Given the description of an element on the screen output the (x, y) to click on. 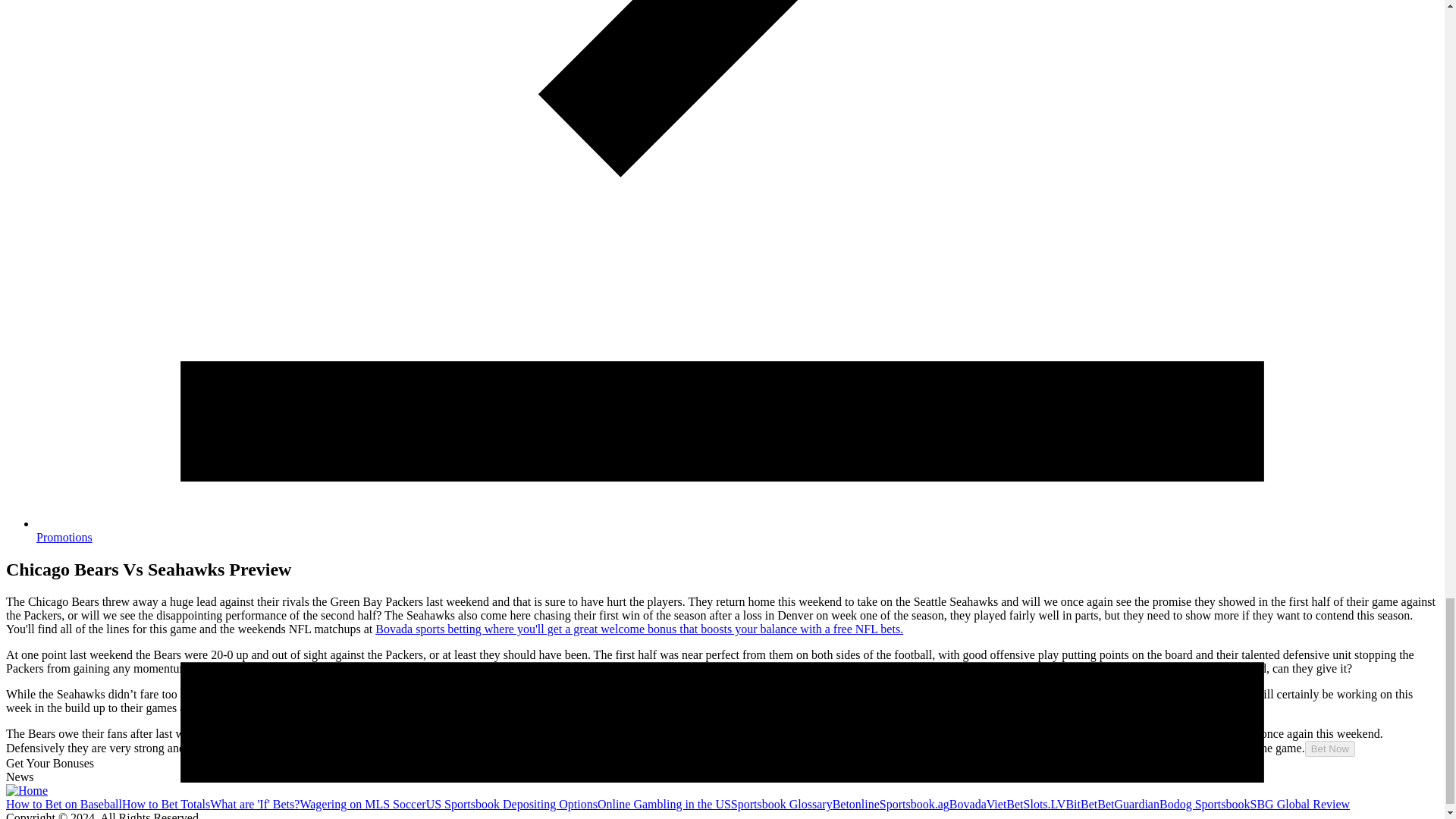
Bet Now (1329, 748)
SBG Global Review (1300, 803)
What are 'If' Bets? (254, 803)
VietBet (1005, 803)
Online Gambling in the US (663, 803)
Slots.LV (1044, 803)
Bovada (968, 803)
How to Bet Totals (165, 803)
Promotions (64, 536)
Betonline (855, 803)
Wagering on MLS Soccer (362, 803)
Sportsbook.ag (914, 803)
US Sportsbook Depositing Options (511, 803)
BitBet (1081, 803)
Bodog Sportsbook (1204, 803)
